Given the description of an element on the screen output the (x, y) to click on. 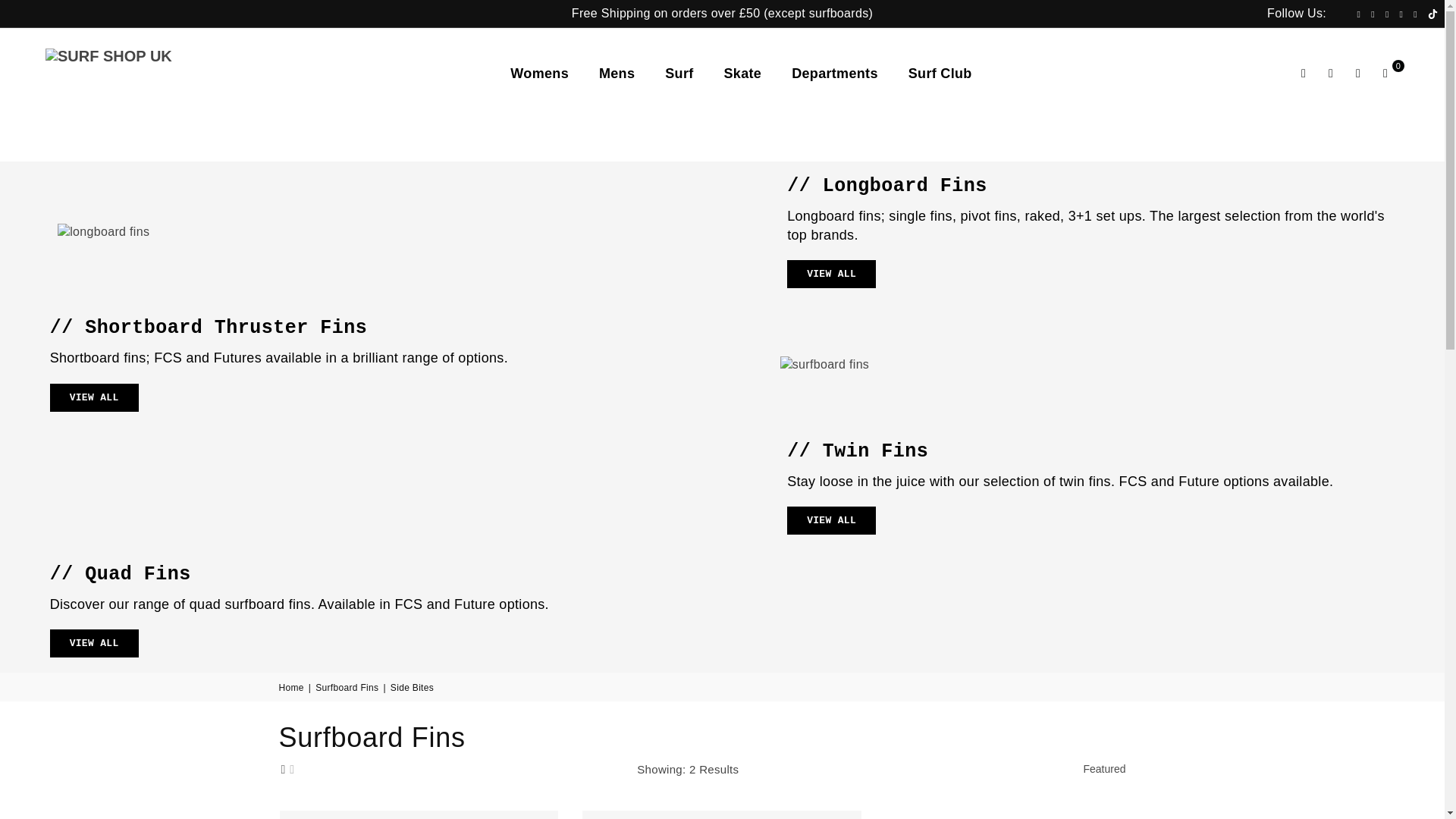
Settings (1330, 73)
10 Over Surf Shopon Facebook (1358, 13)
YouTube (1414, 13)
Pinterest (1372, 13)
Back to the home page (292, 687)
10 Over Surf Shopon YouTube (1414, 13)
10 OVER SURF SHOP (132, 73)
Womens (539, 73)
Facebook (1358, 13)
Wishlist (1357, 73)
